Given the description of an element on the screen output the (x, y) to click on. 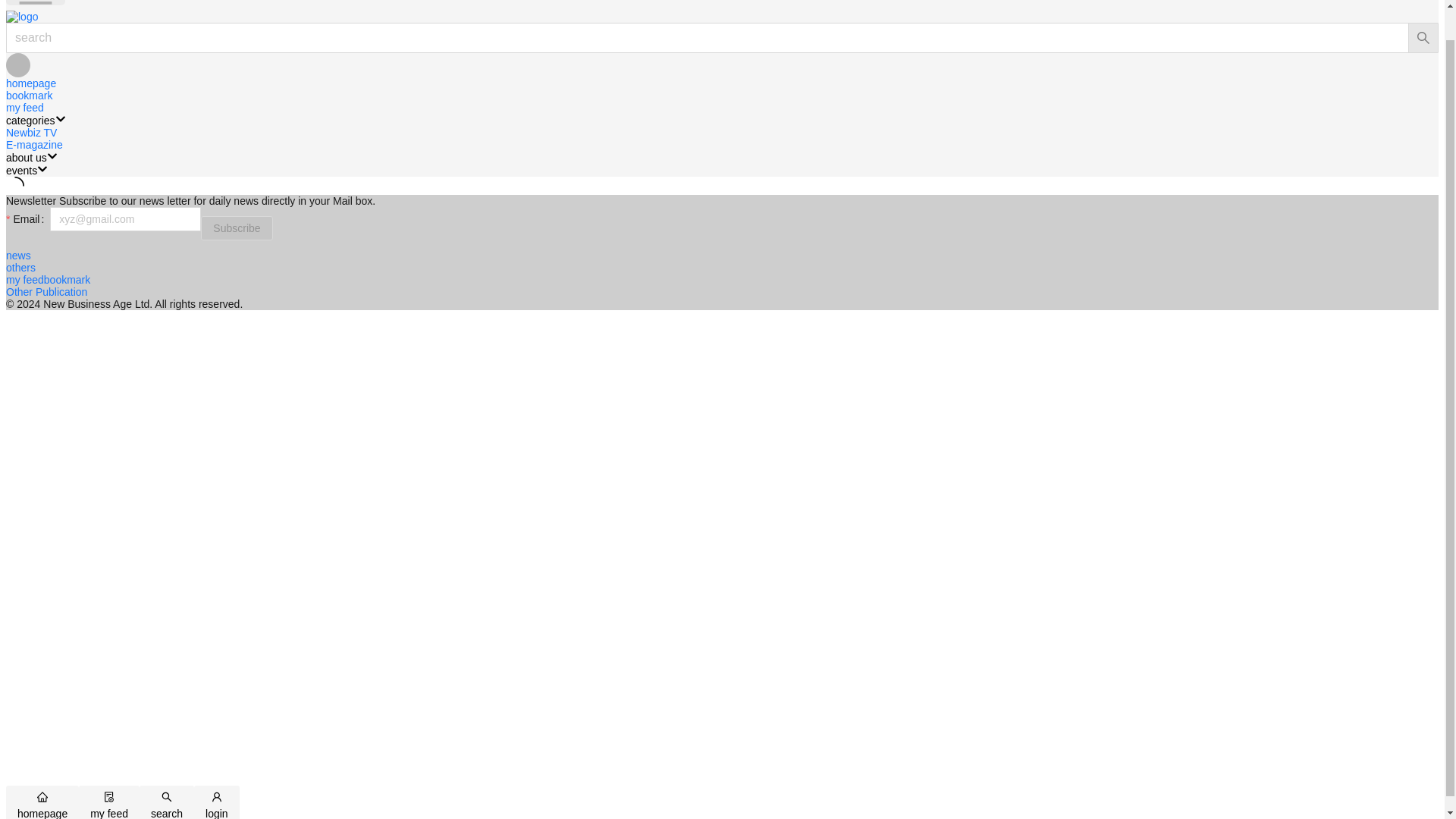
Other Publication (46, 291)
E-magazine (33, 144)
my feed (24, 279)
others (19, 267)
my feed (24, 107)
bookmark (66, 279)
news (17, 255)
Newbiz TV (30, 132)
Subscribe (236, 228)
bookmark (28, 95)
